Given the description of an element on the screen output the (x, y) to click on. 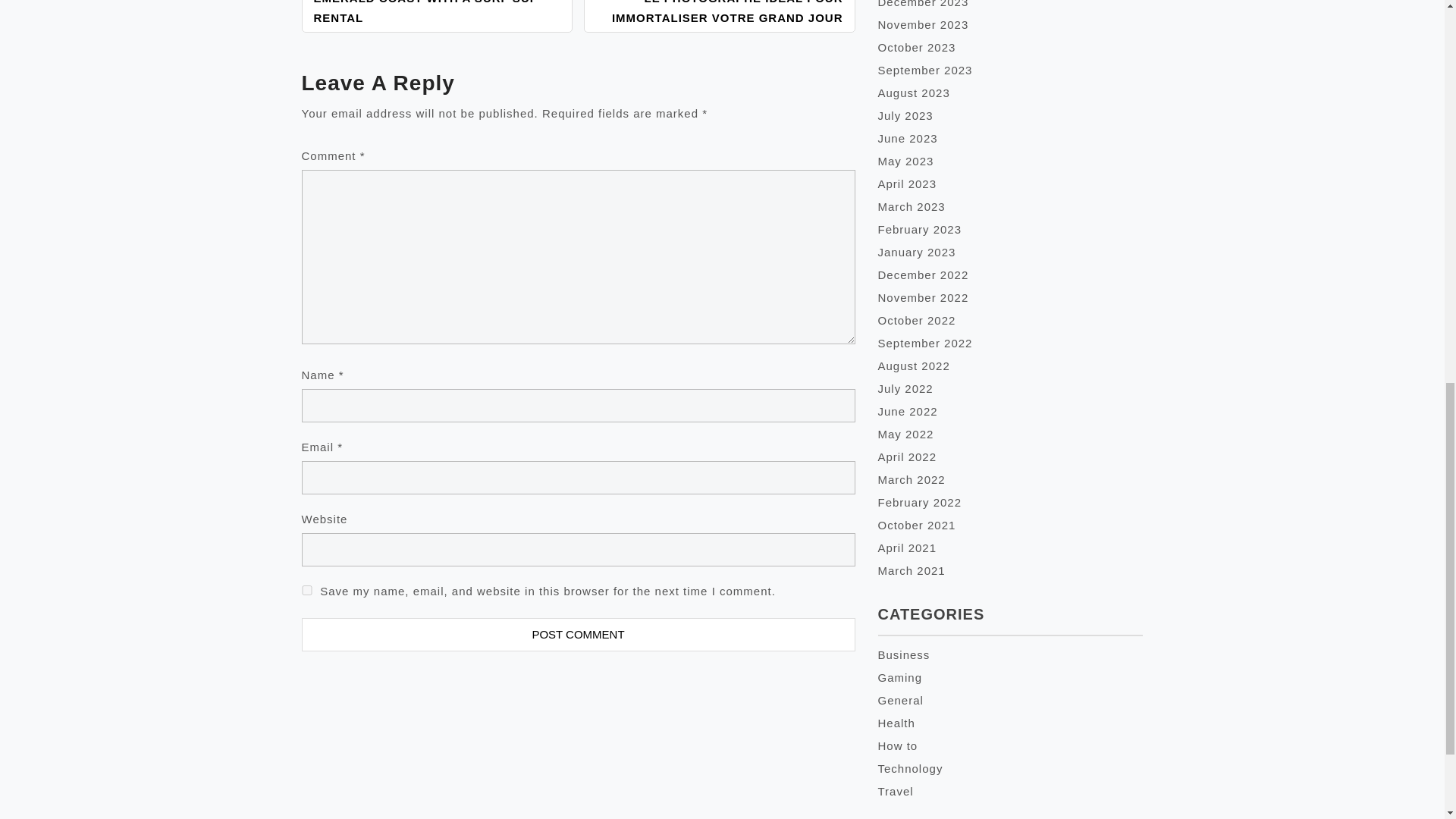
Post Comment (578, 634)
Post Comment (578, 634)
yes (307, 590)
